Given the description of an element on the screen output the (x, y) to click on. 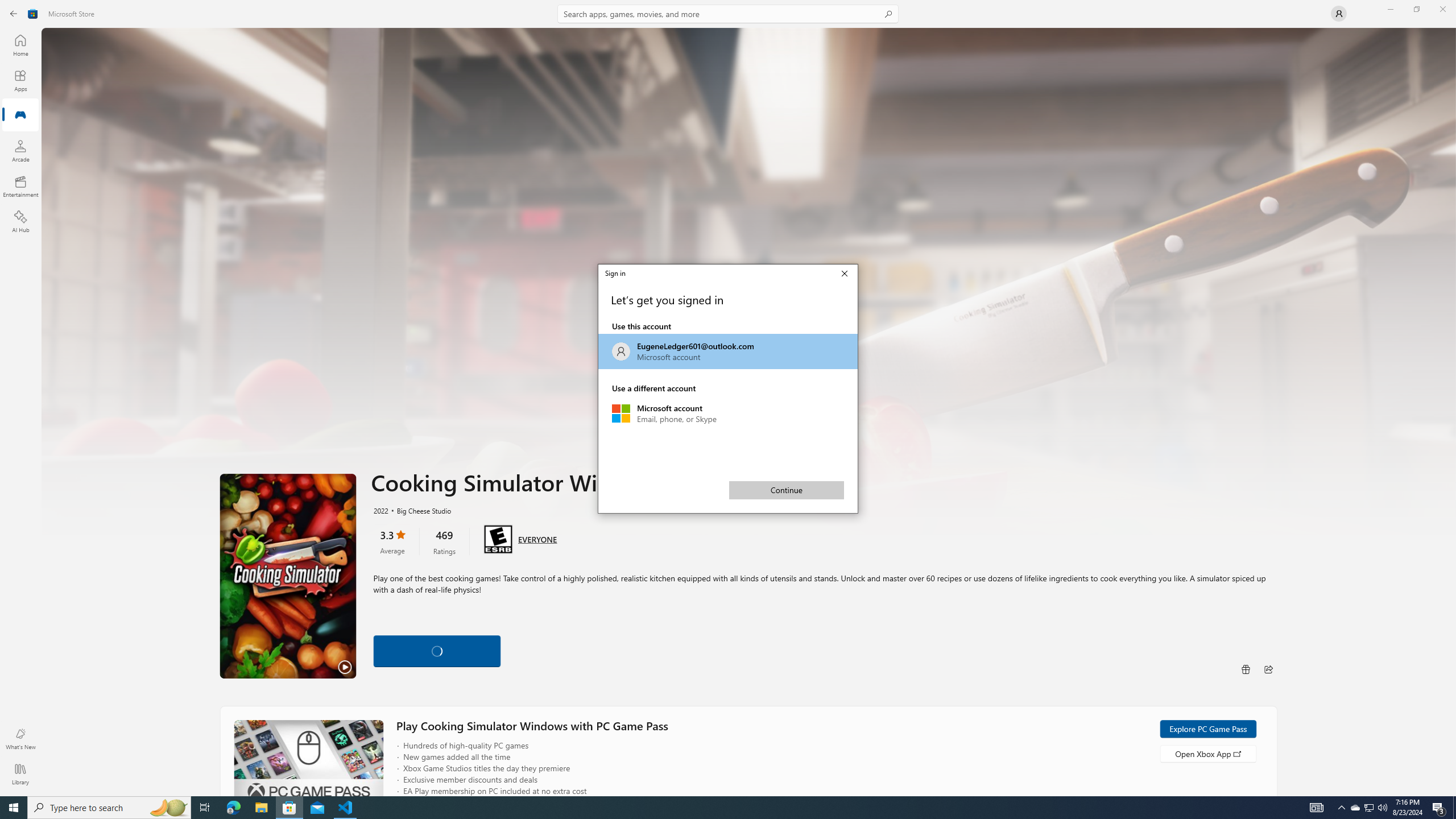
AutomationID: Button (436, 651)
Task View (727, 412)
Microsoft Edge (204, 807)
Action Center, 3 new notifications (233, 807)
Play Trailer (1439, 807)
Buy as gift (287, 575)
Continue (1245, 669)
User Promoted Notification Area (786, 490)
Visual Studio Code - 1 running window (1368, 807)
